Given the description of an element on the screen output the (x, y) to click on. 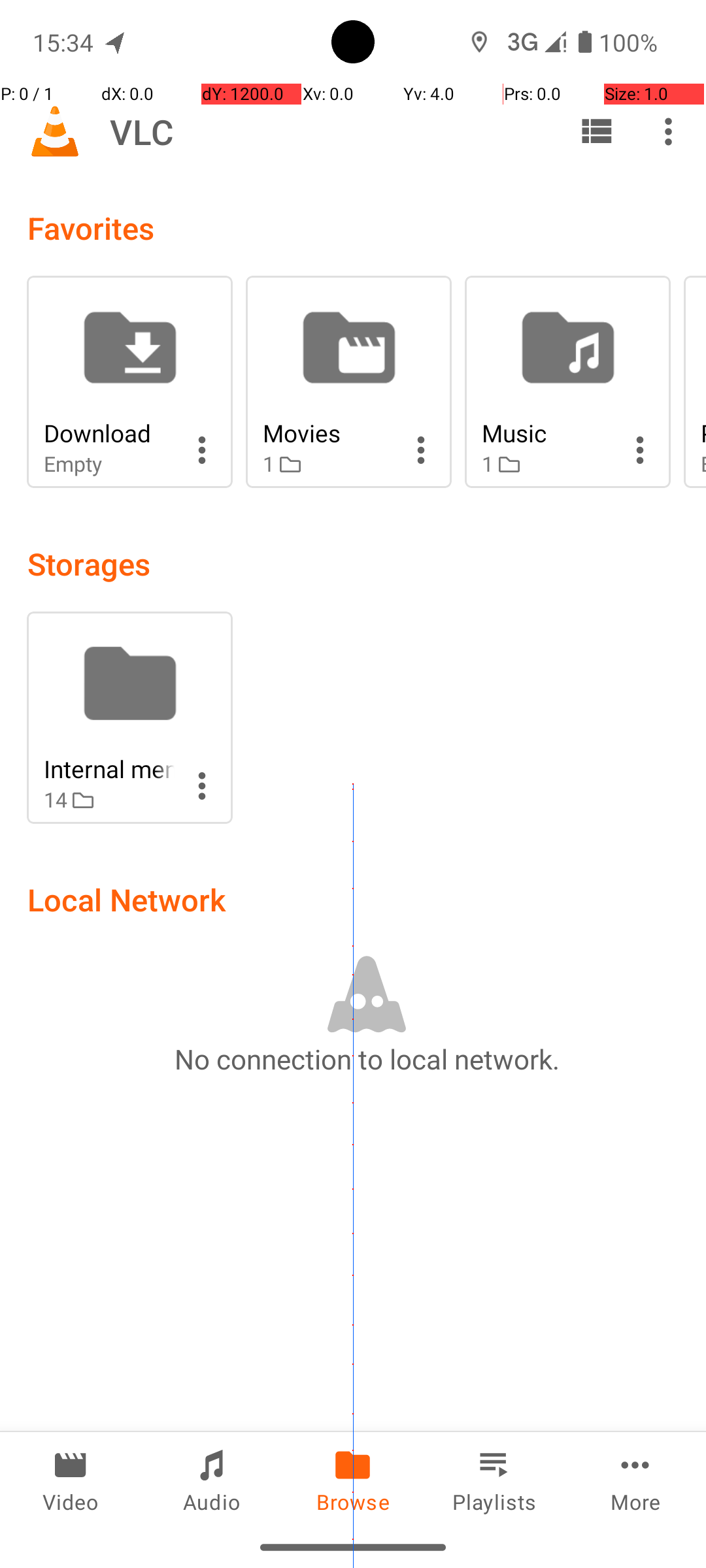
Display in list Element type: android.widget.TextView (595, 131)
Storages Element type: android.widget.TextView (88, 563)
Local Network Element type: android.widget.TextView (126, 898)
No connection to local network. Element type: android.widget.TextView (366, 1058)
Favorite: Download, Empty Element type: androidx.cardview.widget.CardView (129, 381)
Favorite: Movies, 1 subfolder Element type: androidx.cardview.widget.CardView (348, 381)
Favorite: Music, 1 subfolder Element type: androidx.cardview.widget.CardView (567, 381)
Favorite: Podcasts, Empty Element type: androidx.cardview.widget.CardView (694, 381)
Folder: Internal memory, 14 subfolders Element type: androidx.cardview.widget.CardView (129, 717)
Empty Element type: android.widget.TextView (108, 463)
More Actions Element type: android.widget.ImageView (201, 449)
Movies Element type: android.widget.TextView (327, 432)
1 §*§ Element type: android.widget.TextView (327, 463)
Podcasts Element type: android.widget.TextView (703, 432)
Internal memory Element type: android.widget.TextView (108, 768)
14 §*§ Element type: android.widget.TextView (108, 799)
